Given the description of an element on the screen output the (x, y) to click on. 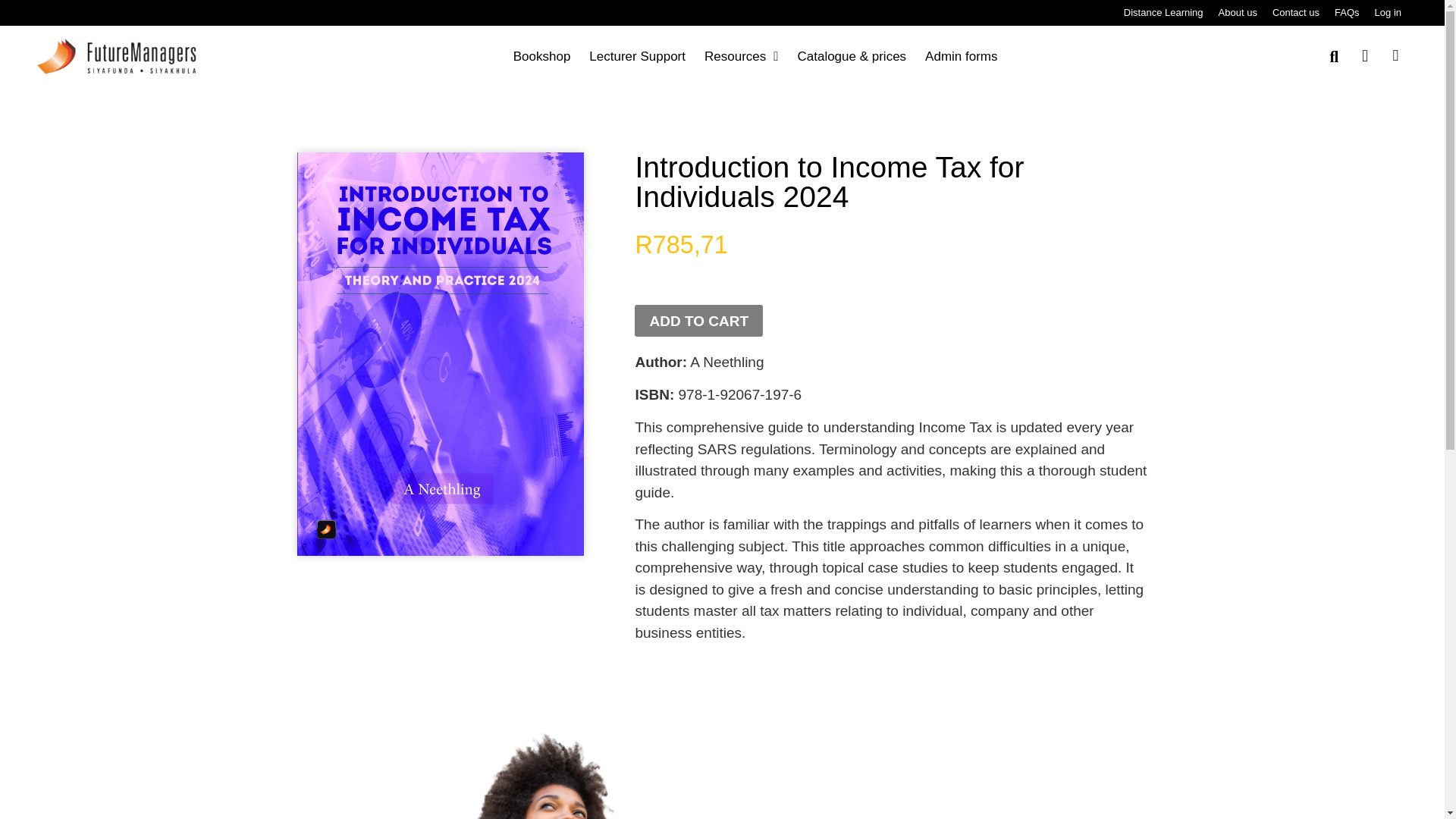
Bookshop (541, 55)
Lecturer Support (637, 55)
ADD TO CART (698, 320)
About us (1237, 12)
Contact us (1295, 12)
Admin forms (960, 55)
Log in (1387, 12)
FAQs (1347, 12)
Distance Learning (1164, 12)
Resources (740, 55)
